Given the description of an element on the screen output the (x, y) to click on. 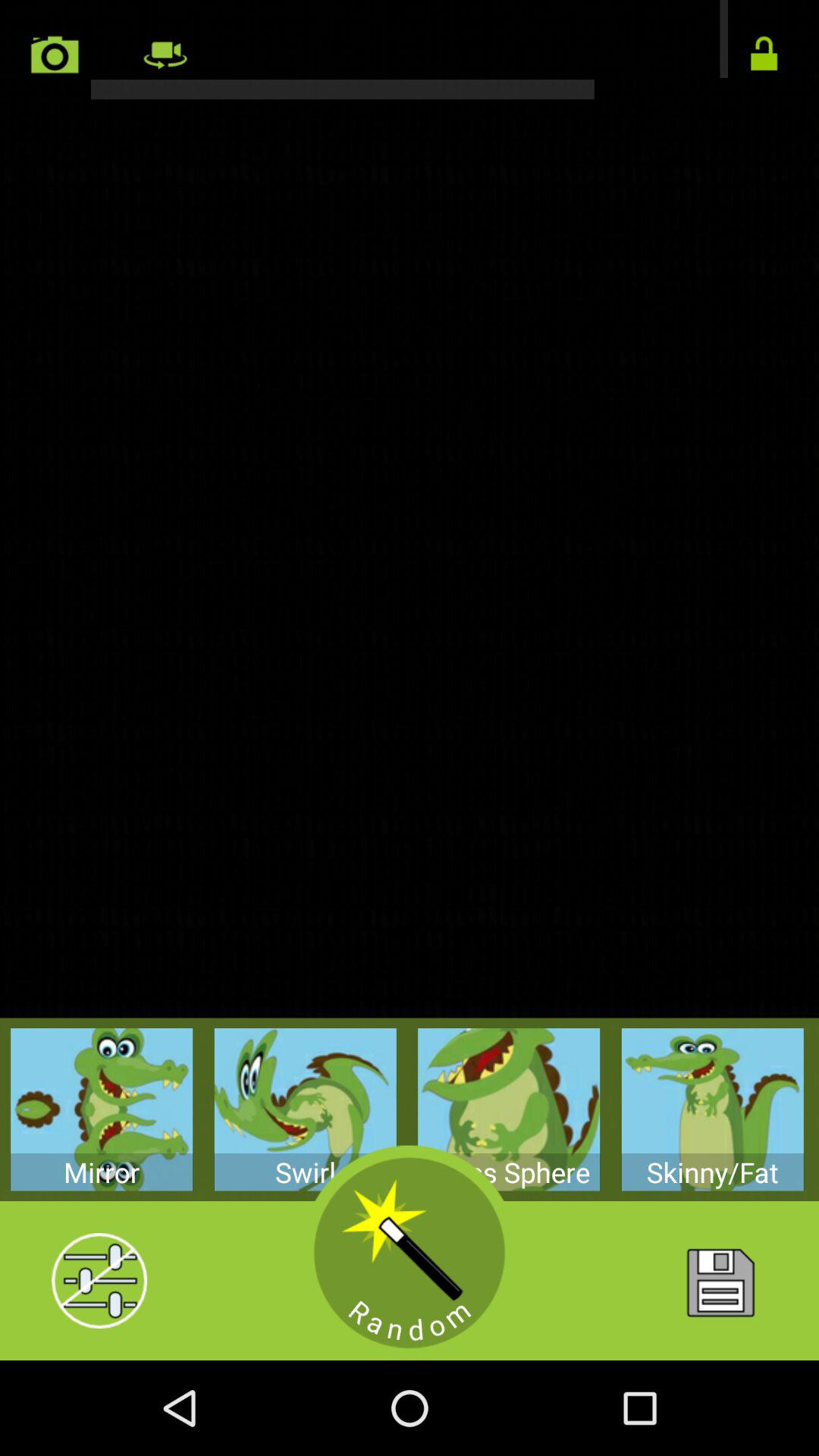
switch to front facing camera (164, 54)
